Given the description of an element on the screen output the (x, y) to click on. 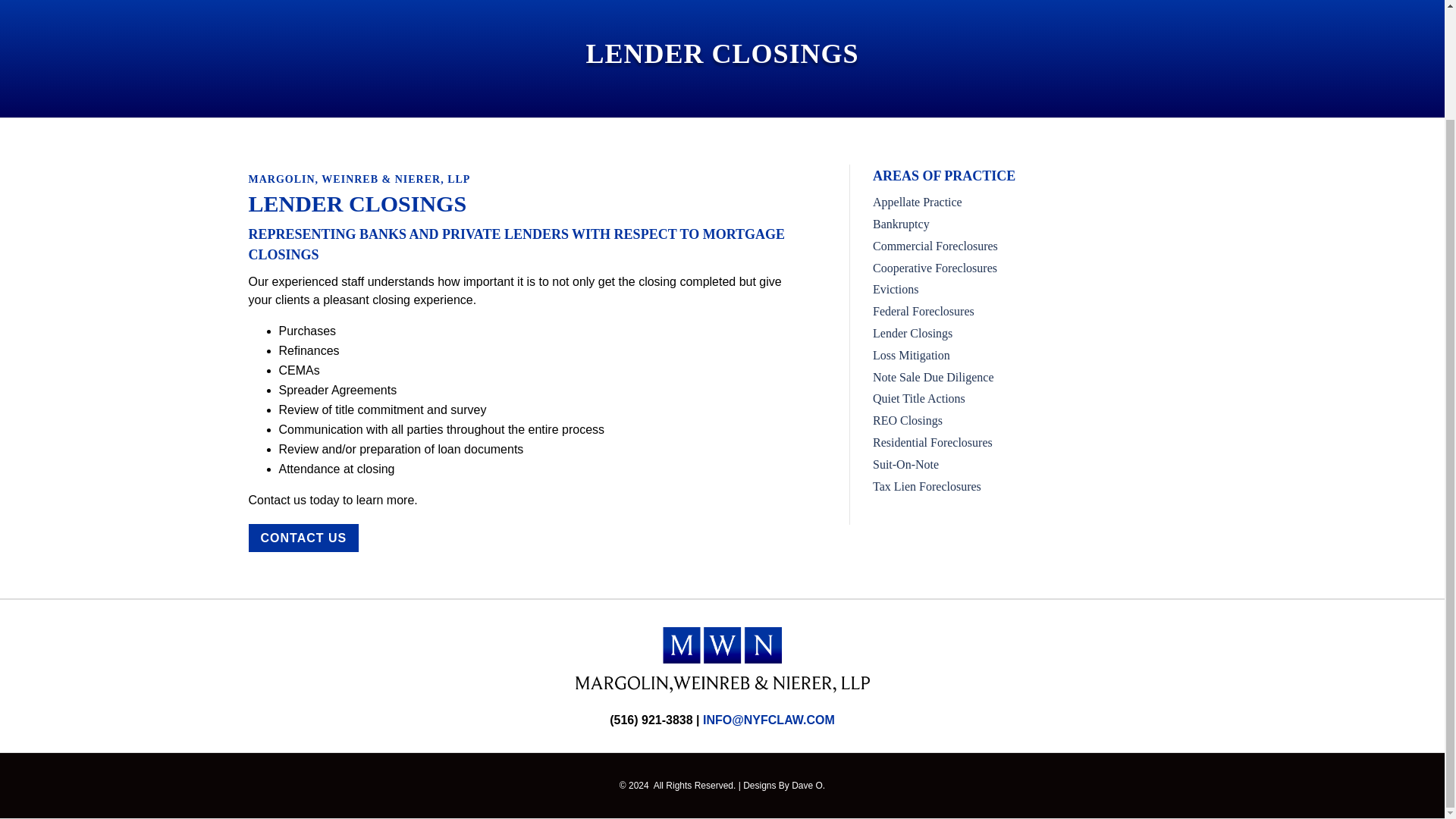
MW Logo (721, 659)
